Given the description of an element on the screen output the (x, y) to click on. 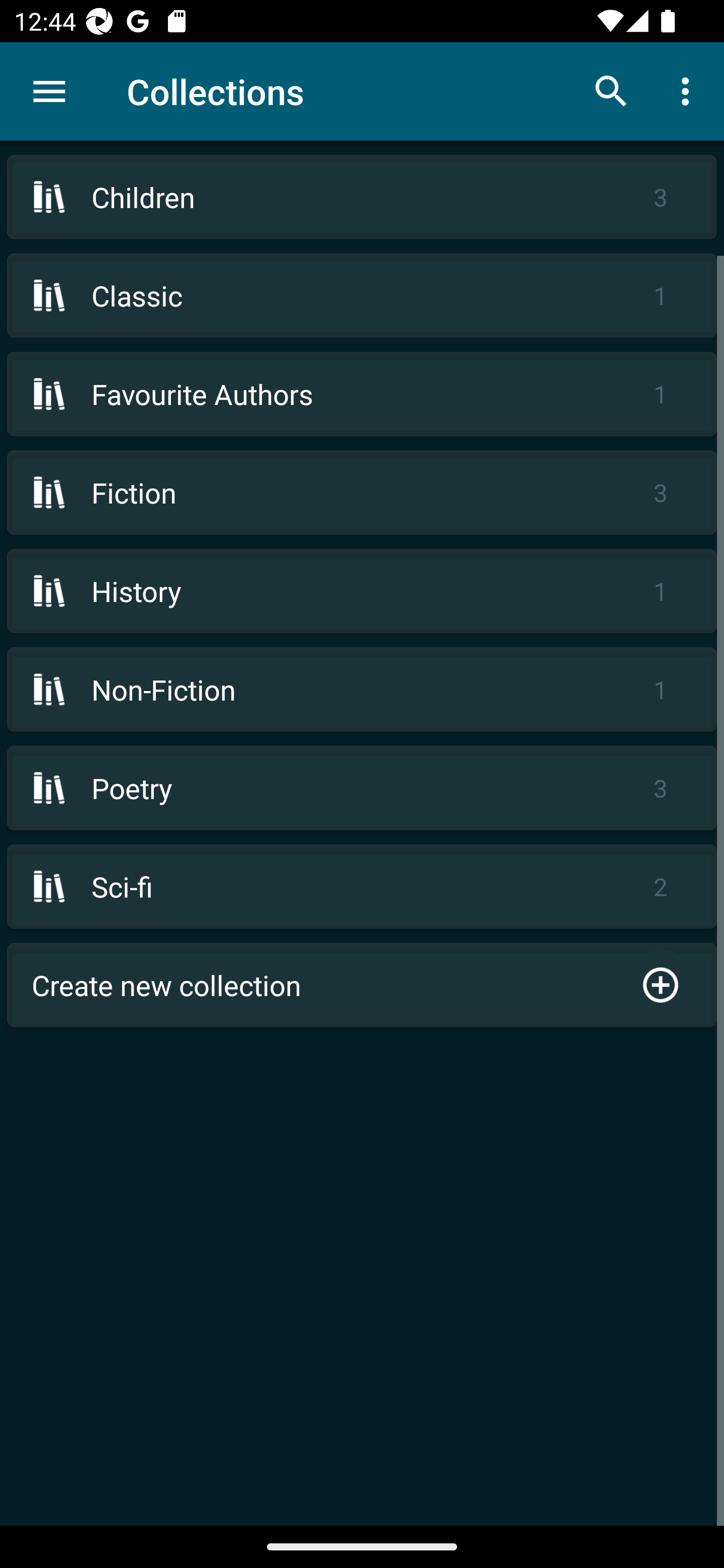
Menu (49, 91)
Search books & documents (611, 90)
More options (688, 90)
Children 3 (361, 197)
Classic 1 (361, 295)
Favourite Authors 1 (361, 393)
Fiction 3 (361, 492)
History 1 (361, 590)
Non-Fiction 1 (361, 689)
Poetry 3 (361, 787)
Sci-fi 2 (361, 885)
Create new collection (361, 984)
